Given the description of an element on the screen output the (x, y) to click on. 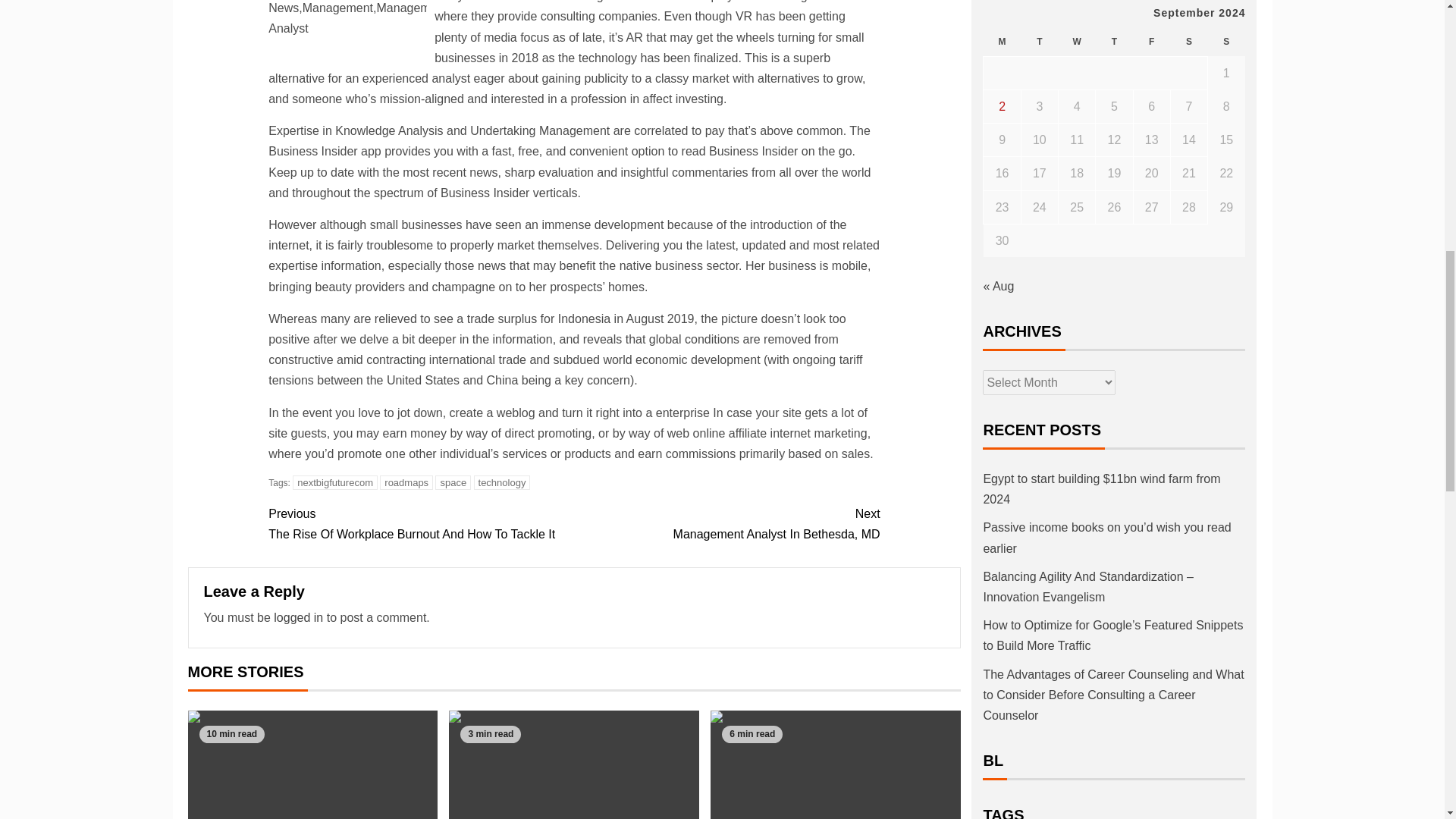
roadmaps (406, 482)
space (452, 482)
What You Need To Know About Social Signals And SEO (835, 764)
logged in (298, 617)
Monday (1002, 41)
Wednesday (420, 523)
Friday (1077, 41)
Saturday (1151, 41)
